Given the description of an element on the screen output the (x, y) to click on. 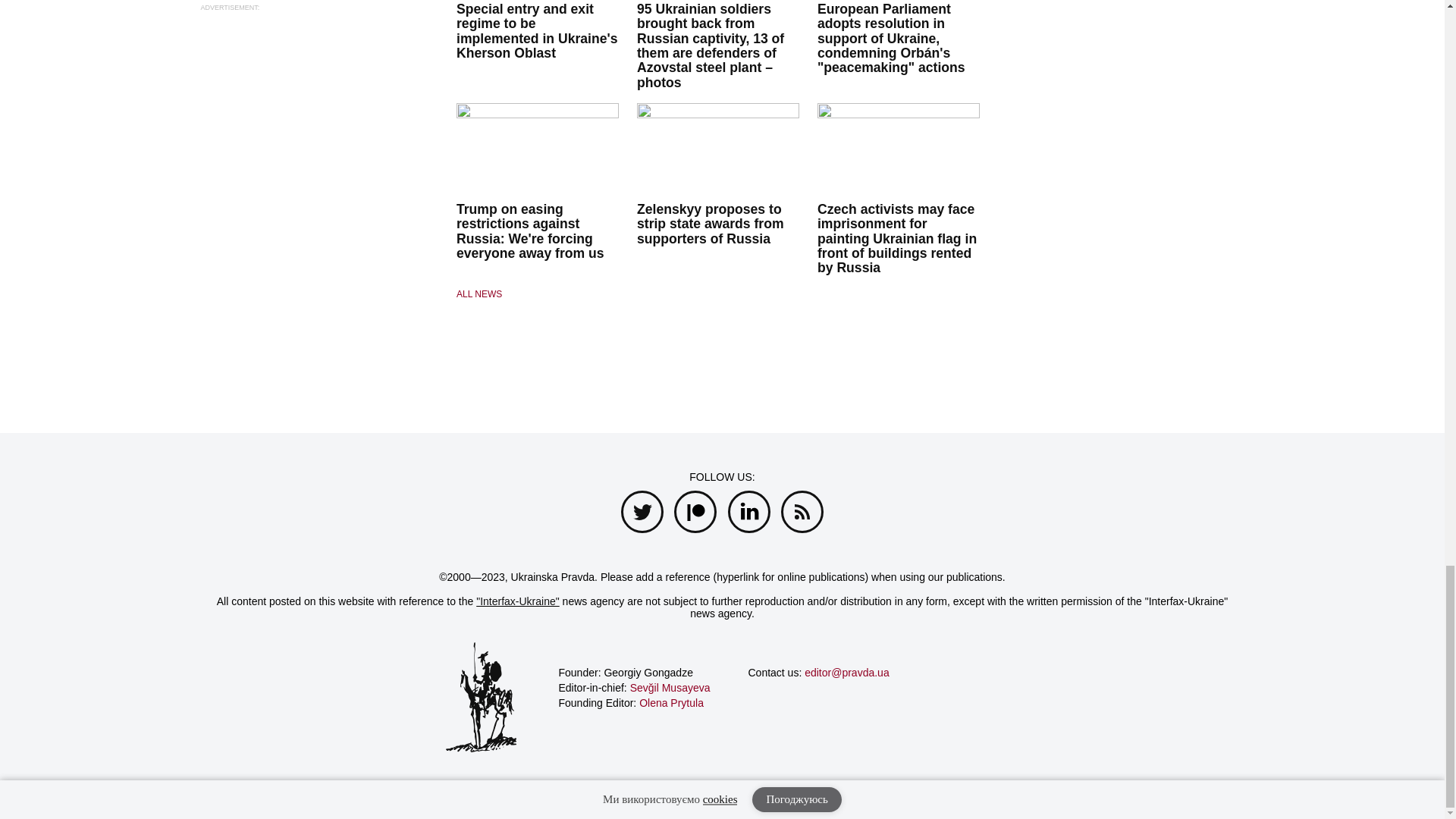
ALL NEWS (537, 294)
